Given the description of an element on the screen output the (x, y) to click on. 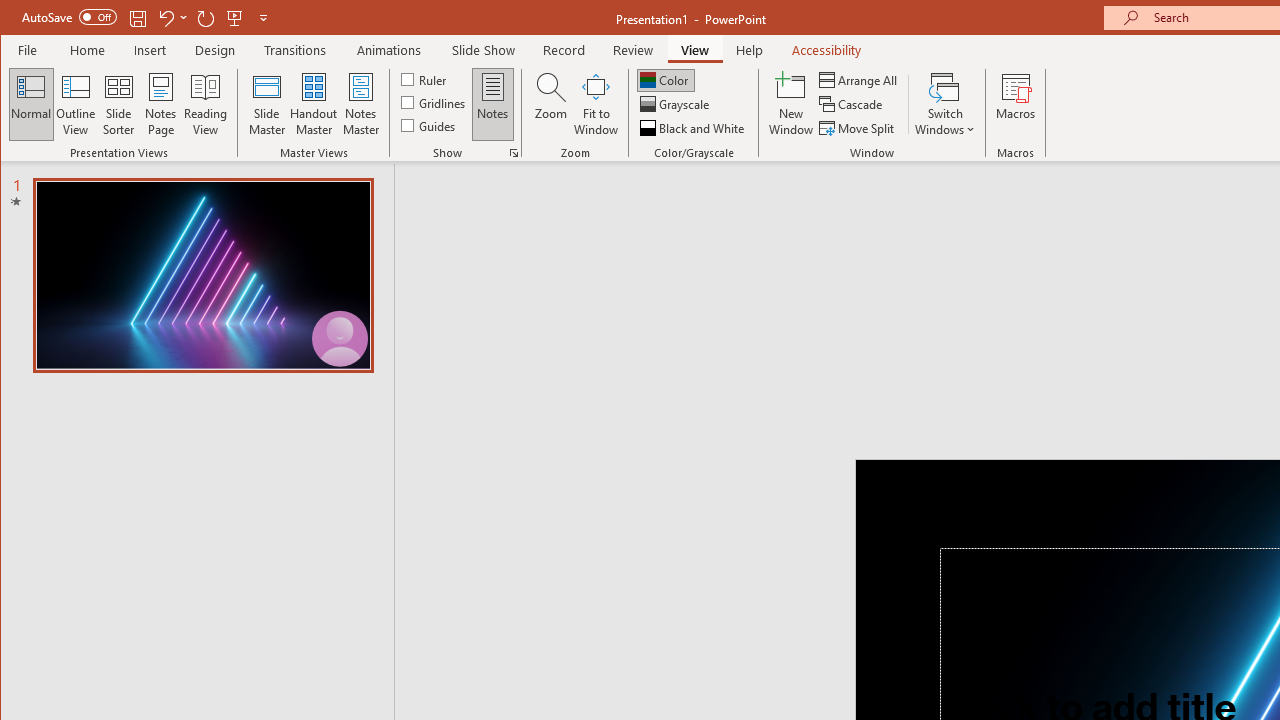
Handout Master (314, 104)
Switch Windows (944, 104)
Move Split (858, 127)
Black and White (694, 127)
Zoom... (550, 104)
Ruler (425, 78)
Cascade (852, 103)
